Given the description of an element on the screen output the (x, y) to click on. 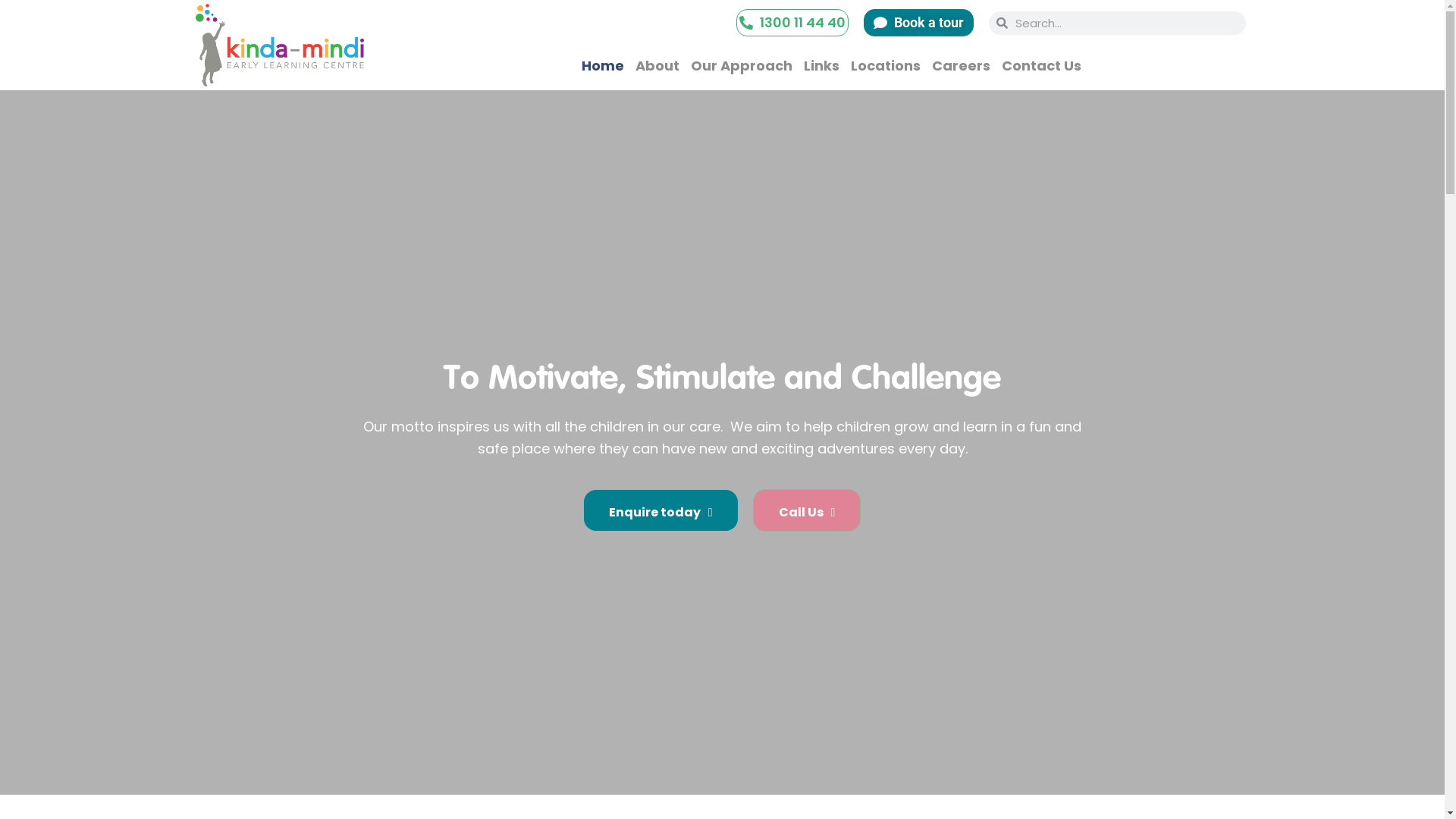
Book a tour Element type: text (928, 22)
Links Element type: text (821, 66)
Our Approach Element type: text (741, 66)
Careers Element type: text (960, 66)
About Element type: text (657, 66)
Home Element type: text (602, 66)
Locations Element type: text (885, 66)
1300 11 44 40 Element type: text (802, 21)
Contact Us Element type: text (1041, 66)
Enquire today Element type: text (660, 509)
Call Us Element type: text (806, 510)
